Given the description of an element on the screen output the (x, y) to click on. 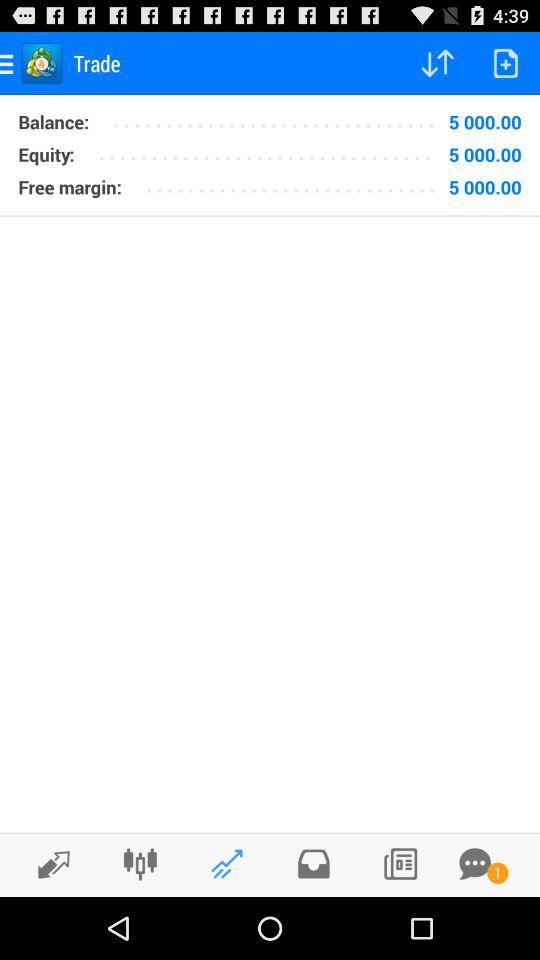
click to check line graph chart (226, 863)
